Given the description of an element on the screen output the (x, y) to click on. 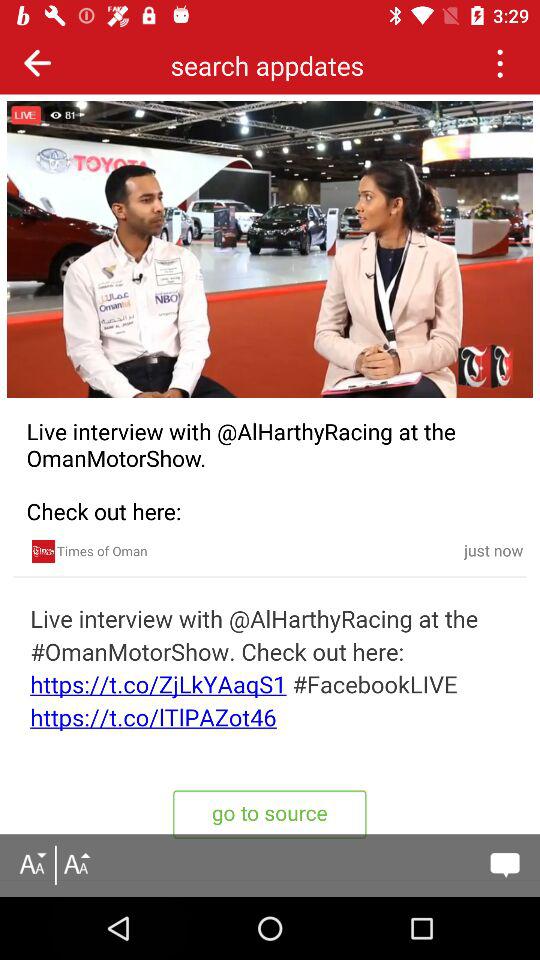
change font (76, 865)
